Given the description of an element on the screen output the (x, y) to click on. 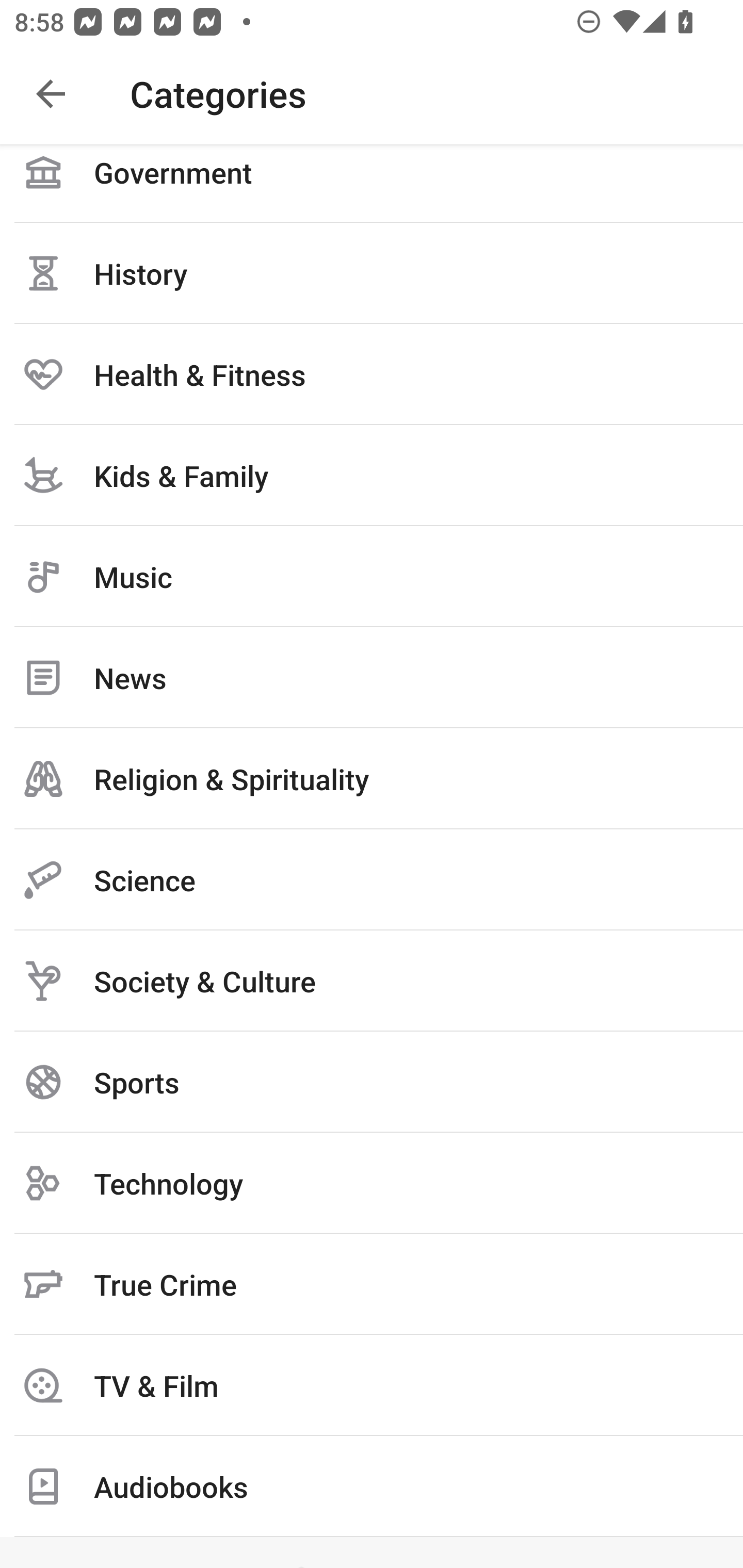
Navigate up (50, 93)
Government (371, 183)
History (371, 273)
Health & Fitness (371, 374)
Kids & Family (371, 475)
Music (371, 576)
News (371, 677)
Religion & Spirituality (371, 778)
Science (371, 879)
Society & Culture (371, 980)
Sports (371, 1081)
Technology (371, 1183)
True Crime (371, 1284)
TV & Film (371, 1385)
Audiobooks (371, 1486)
